Given the description of an element on the screen output the (x, y) to click on. 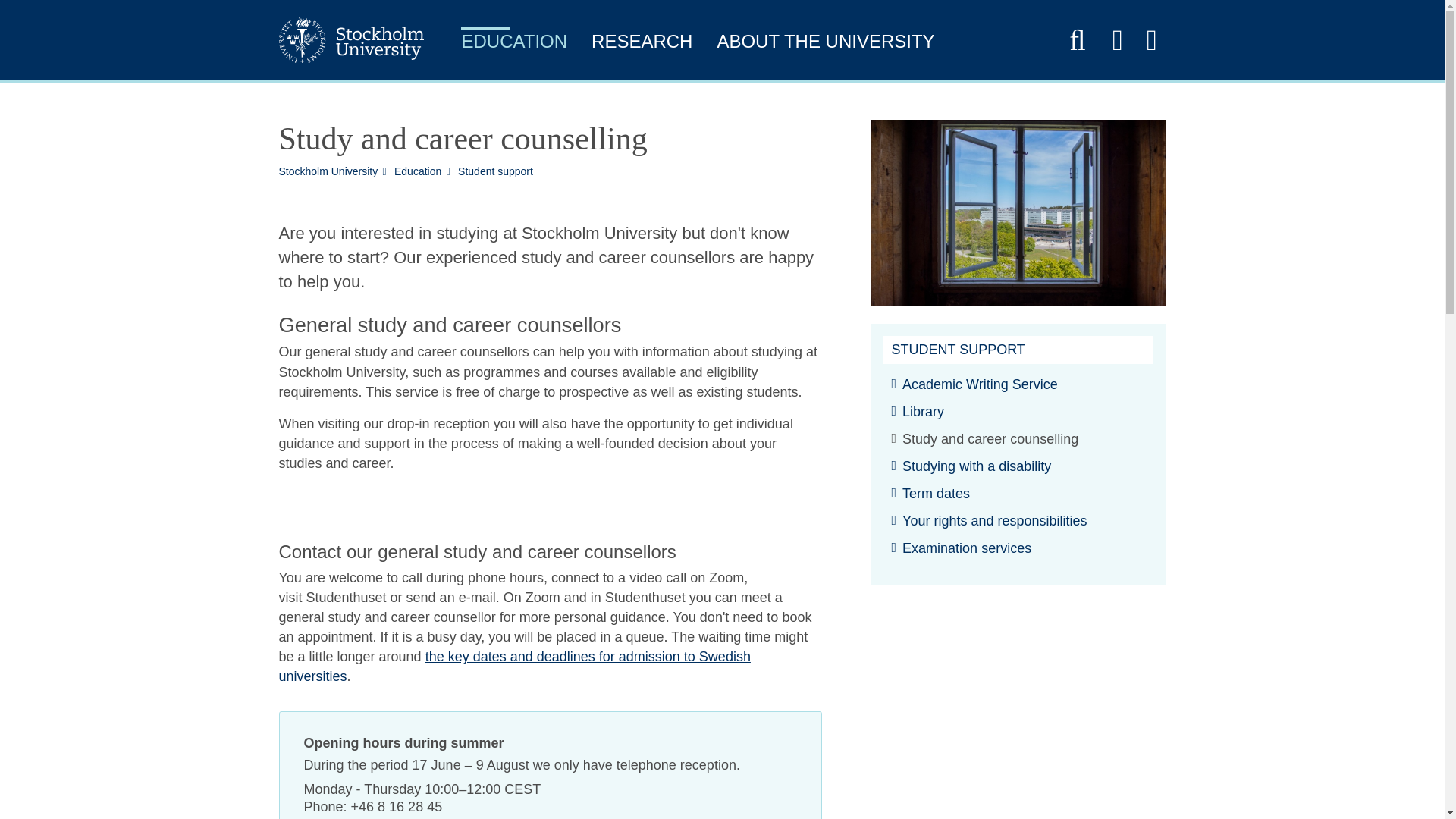
RESEARCH (641, 43)
Photo: Ingmarie Andersson (1018, 212)
EDUCATION (513, 43)
